Given the description of an element on the screen output the (x, y) to click on. 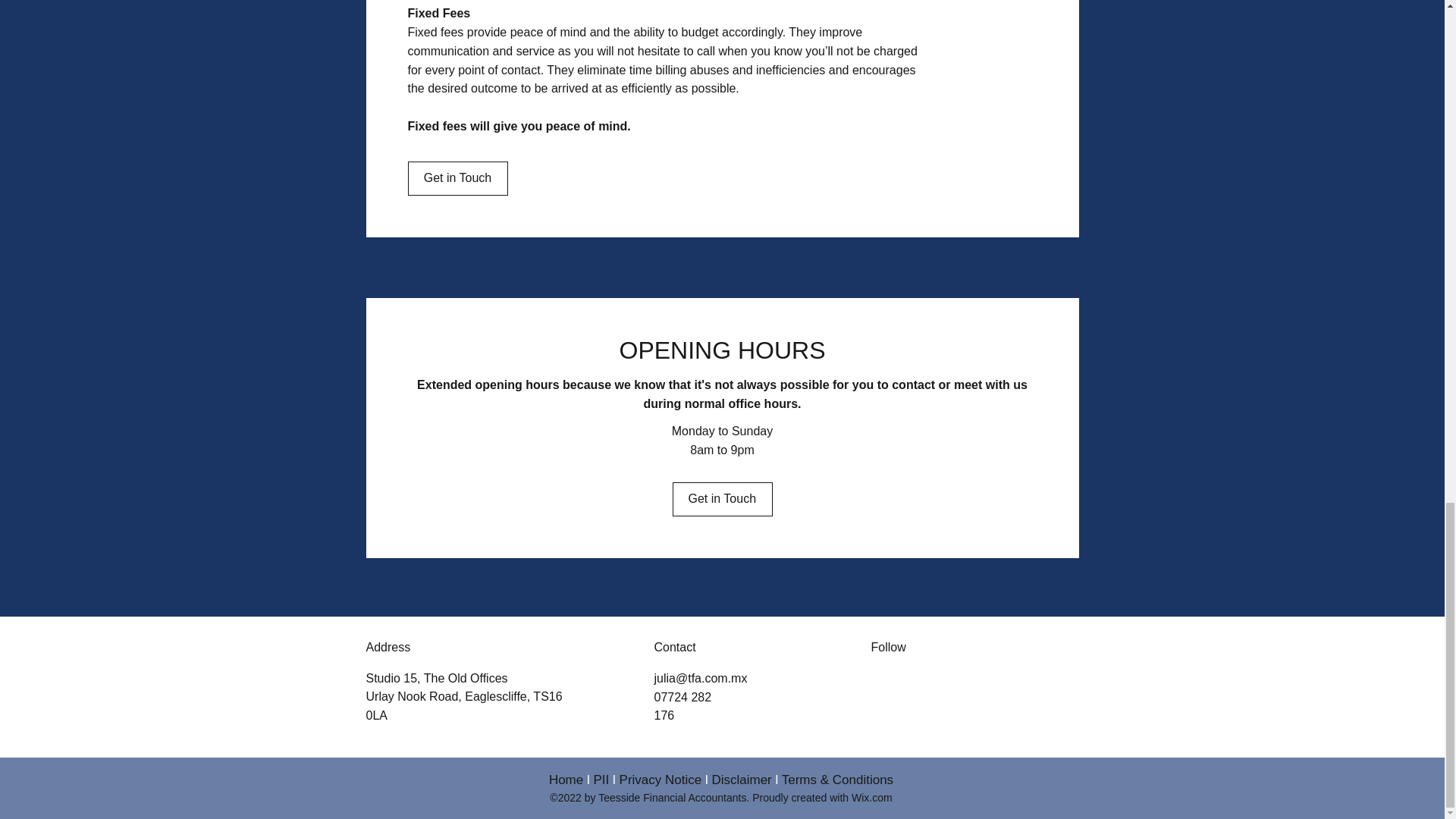
Home (565, 780)
Disclaimer (741, 780)
Get in Touch (457, 178)
Privacy Notice (660, 780)
Get in Touch (721, 499)
PII (600, 780)
Contact (674, 646)
Studio 15, The Old Offices (435, 677)
